Given the description of an element on the screen output the (x, y) to click on. 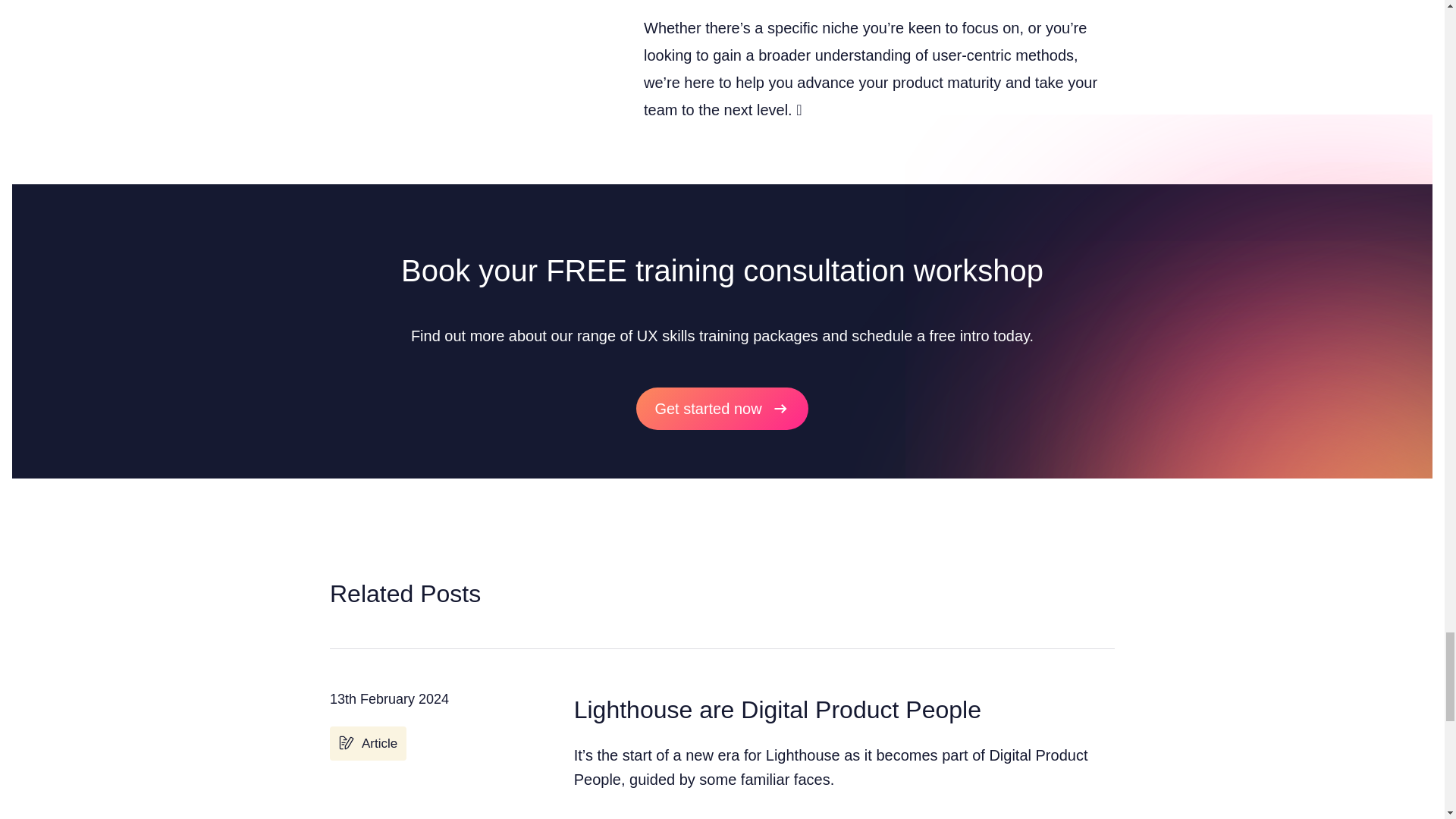
Lighthouse are Digital Product People (777, 709)
Article (368, 743)
Get started now (722, 408)
